Given the description of an element on the screen output the (x, y) to click on. 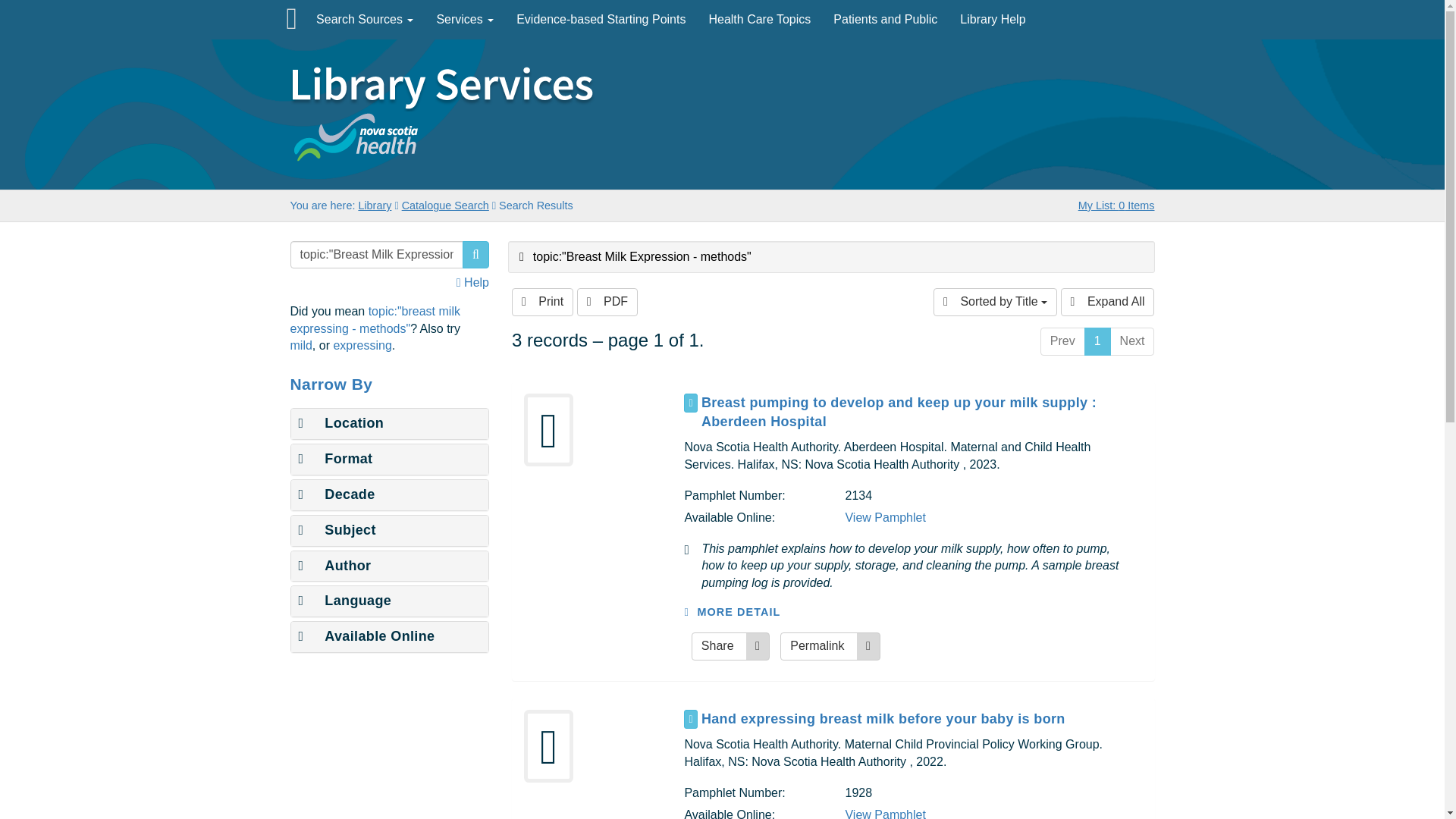
expressing (362, 345)
Location (341, 422)
Help (473, 282)
Search (476, 254)
Remove topic:"Breast Milk Expression - methods" (635, 256)
Toggle Full Record (921, 719)
Decade (336, 494)
topic:"breast milk expressing - methods" (374, 319)
topic:"Breast Milk Expression - methods" (376, 254)
Evidence-based Starting Points (601, 19)
